Given the description of an element on the screen output the (x, y) to click on. 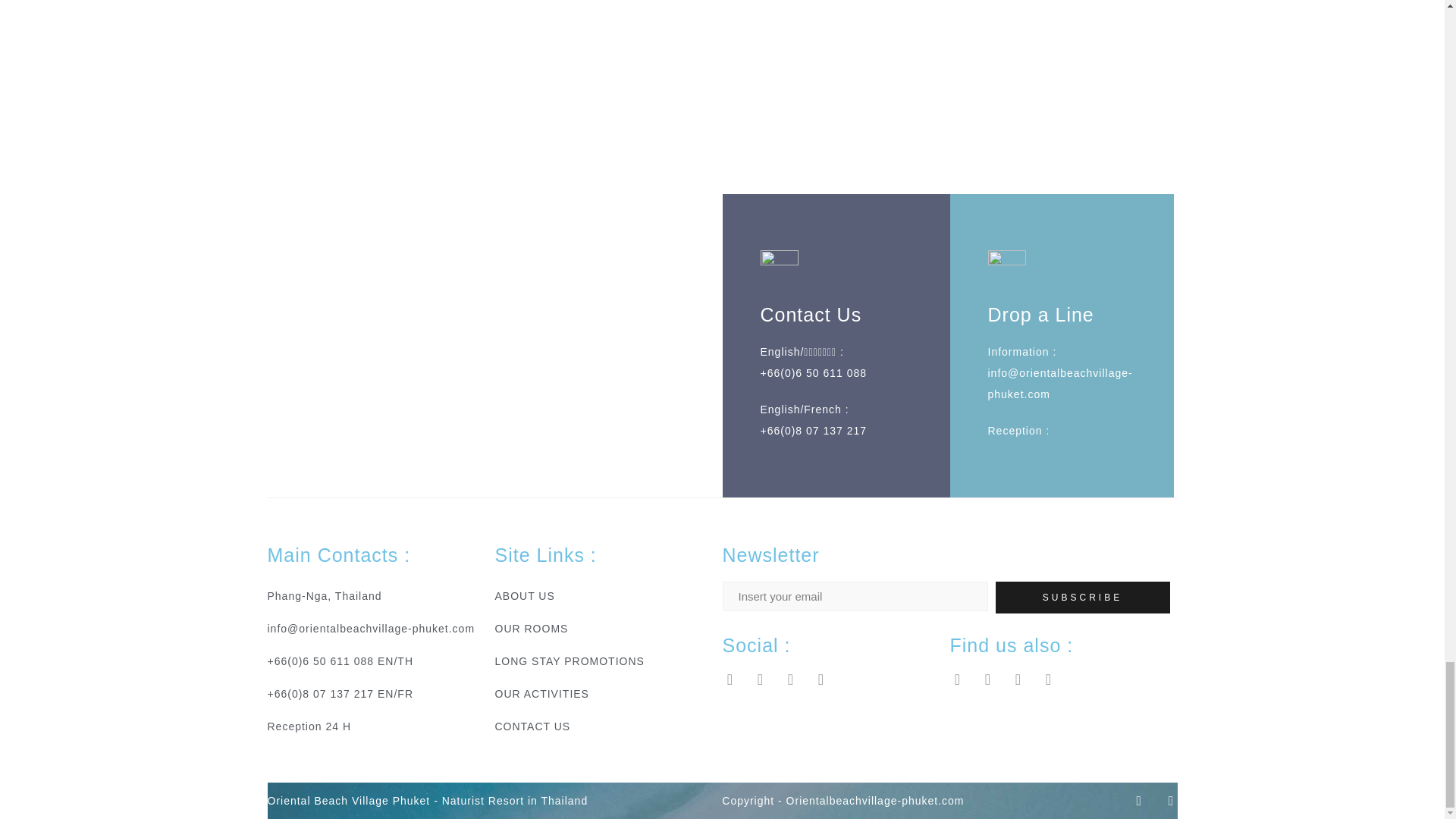
Wordpress Themes (842, 800)
SUBSCRIBE (1081, 597)
Hotel Resort WordPress Theme (427, 800)
